Given the description of an element on the screen output the (x, y) to click on. 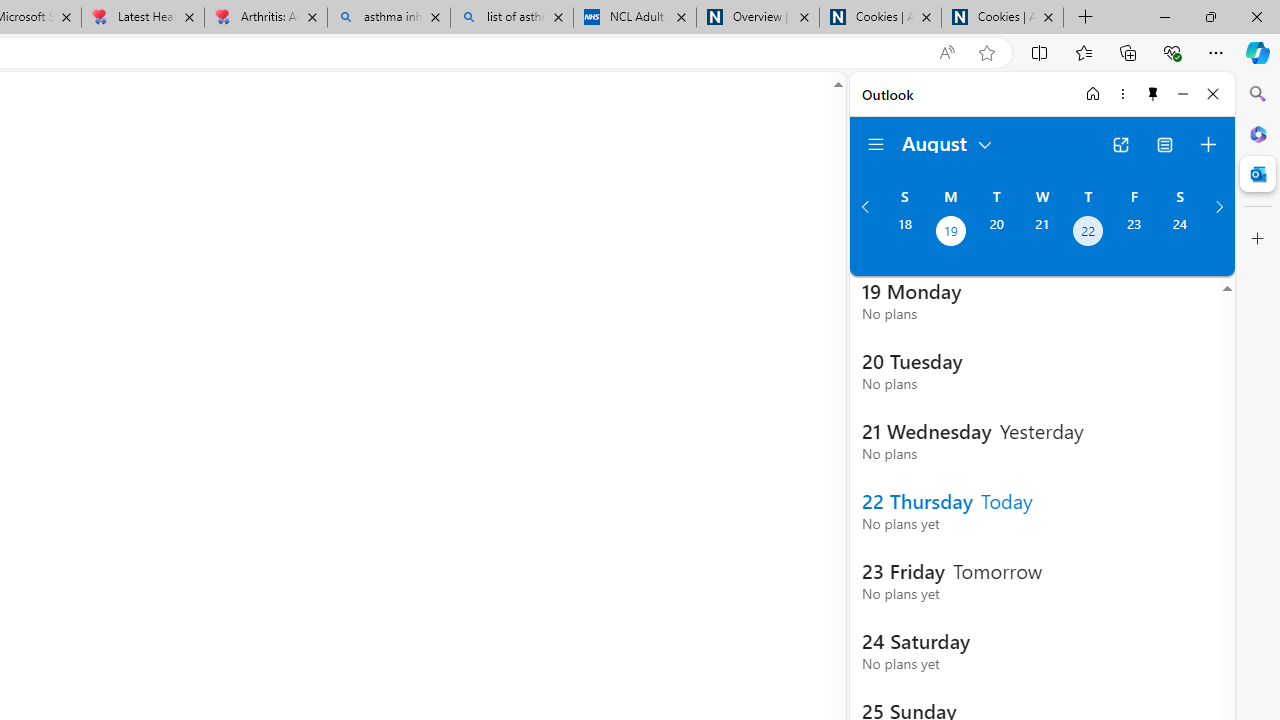
Folder navigation (876, 144)
Sunday, August 18, 2024.  (904, 233)
View Switcher. Current view is Agenda view (1165, 144)
Monday, August 19, 2024. Date selected.  (950, 233)
asthma inhaler - Search (388, 17)
Thursday, August 22, 2024. Today.  (1088, 233)
